Given the description of an element on the screen output the (x, y) to click on. 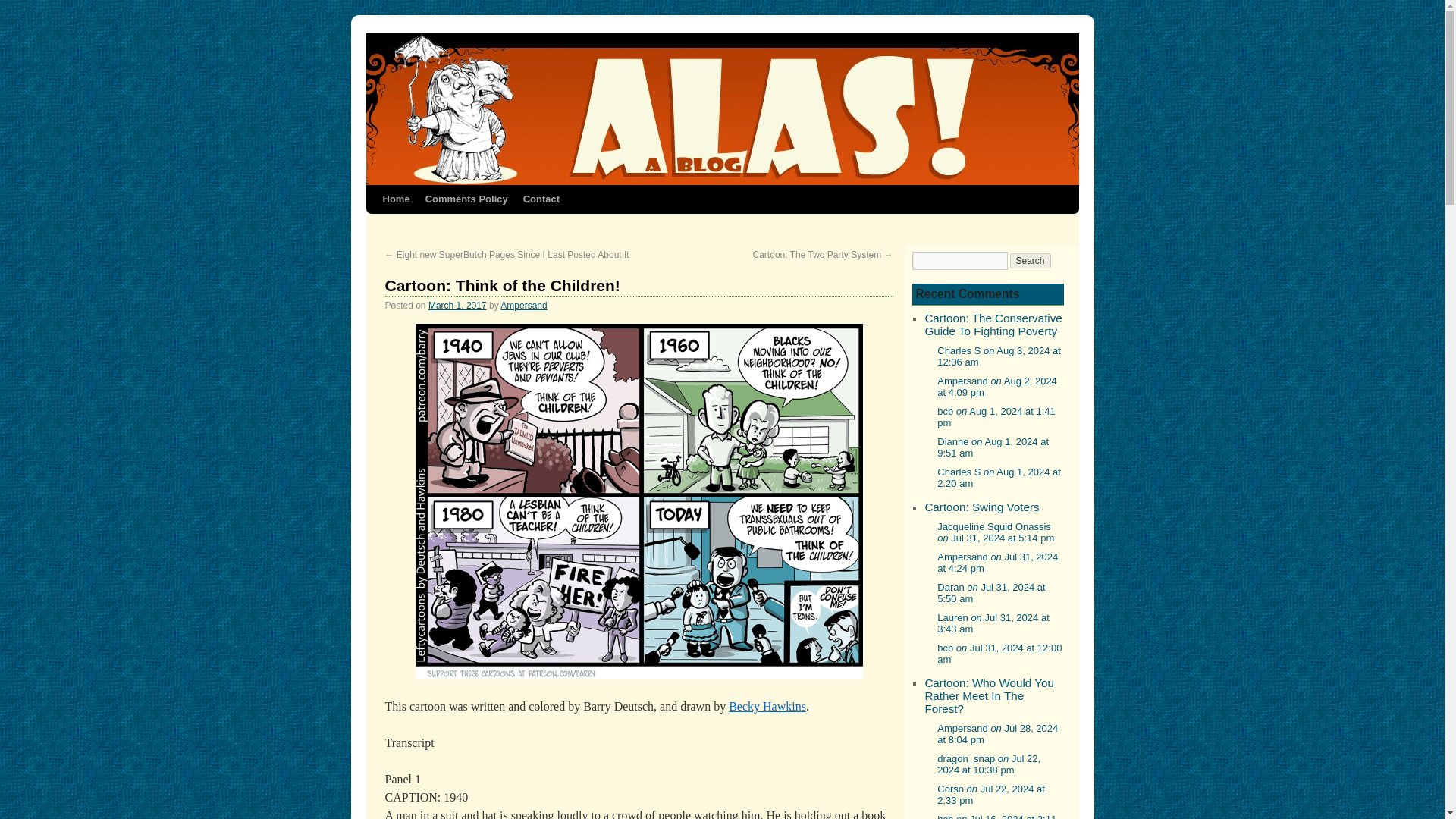
Dianne on Aug 1, 2024 at 9:51 am (992, 446)
28 comments (992, 324)
Charles S on Aug 3, 2024 at 12:06 am (999, 355)
Ampersand on Aug 2, 2024 at 4:09 pm (997, 386)
Cartoon: Swing Voters (981, 506)
Becky Hawkins (767, 706)
March 1, 2017 (457, 305)
11:57 pm (457, 305)
Ampersand on Jul 31, 2024 at 4:24 pm (997, 562)
Jacqueline Squid Onassis on Jul 31, 2024 at 5:14 pm (995, 531)
Comments Policy (466, 199)
Contact (541, 199)
View all posts by Ampersand (523, 305)
Ampersand (523, 305)
Home (395, 199)
